Given the description of an element on the screen output the (x, y) to click on. 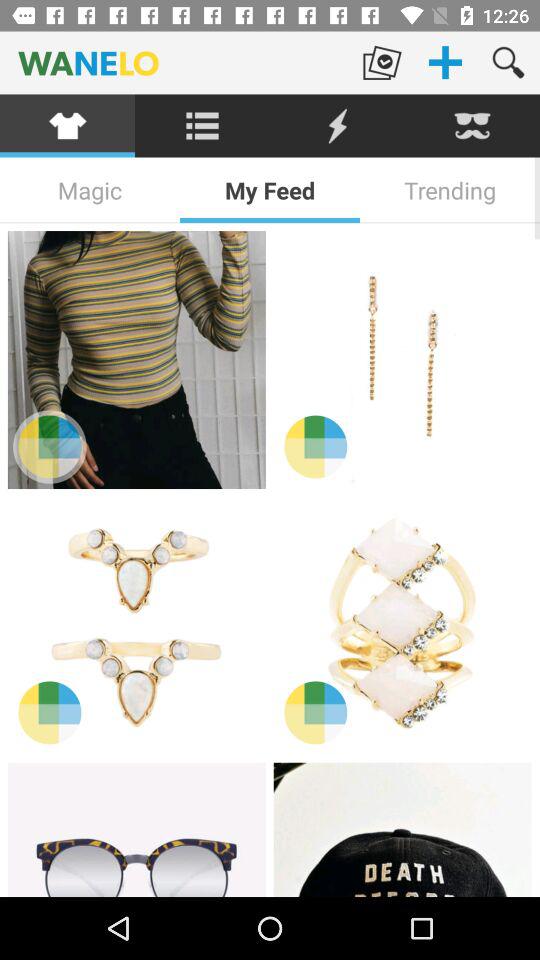
click item above my feed (337, 125)
